Given the description of an element on the screen output the (x, y) to click on. 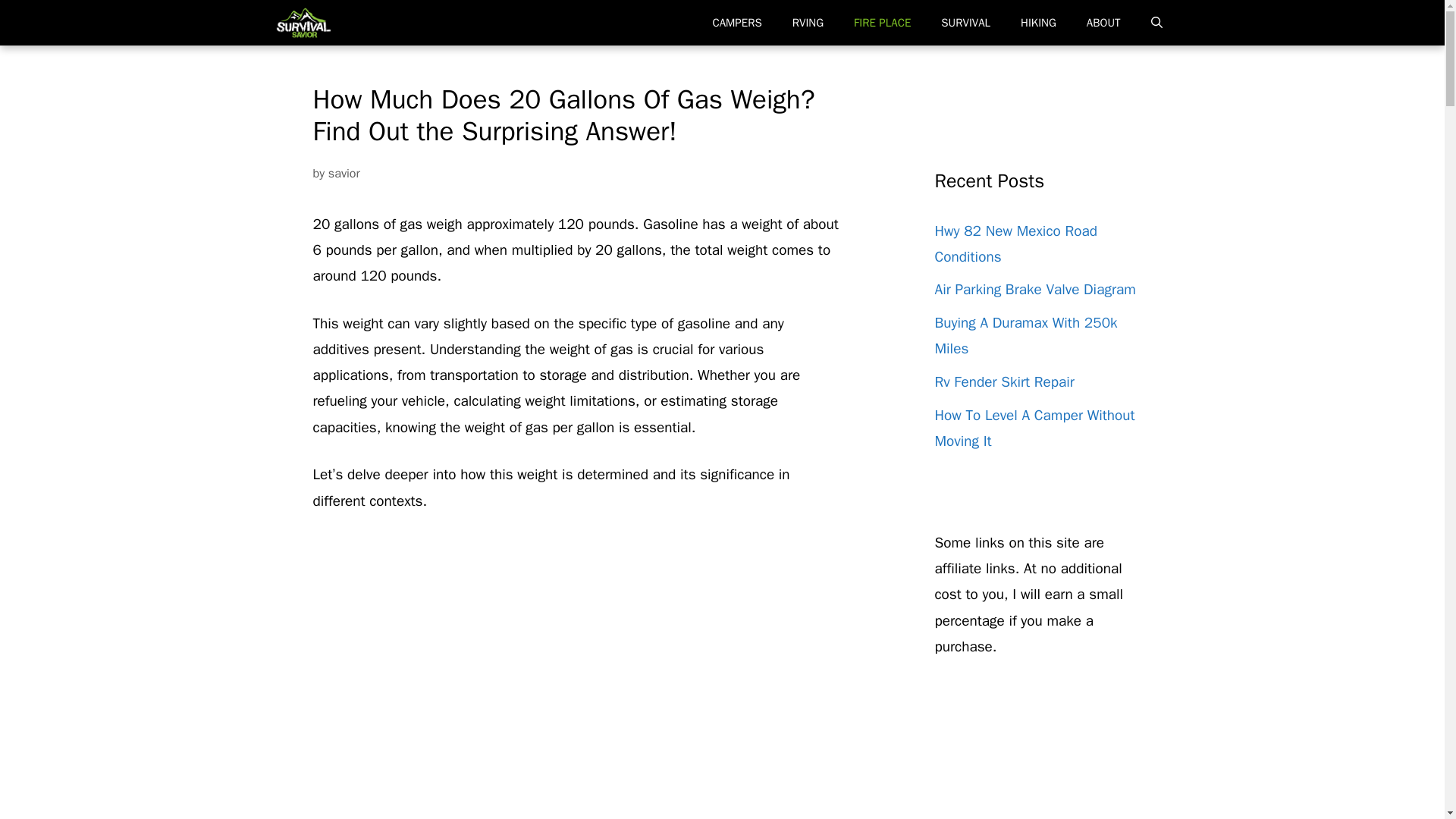
Hwy 82 New Mexico Road Conditions (1015, 243)
How To Level A Camper Without Moving It (1034, 428)
SURVIVAL (966, 22)
RVING (807, 22)
Rv Fender Skirt Repair (1004, 382)
FIRE PLACE (882, 22)
Air Parking Brake Valve Diagram (1034, 289)
Buying A Duramax With 250k Miles (1025, 335)
Survival Savior (302, 22)
CAMPERS (736, 22)
ABOUT (1103, 22)
HIKING (1038, 22)
